Given the description of an element on the screen output the (x, y) to click on. 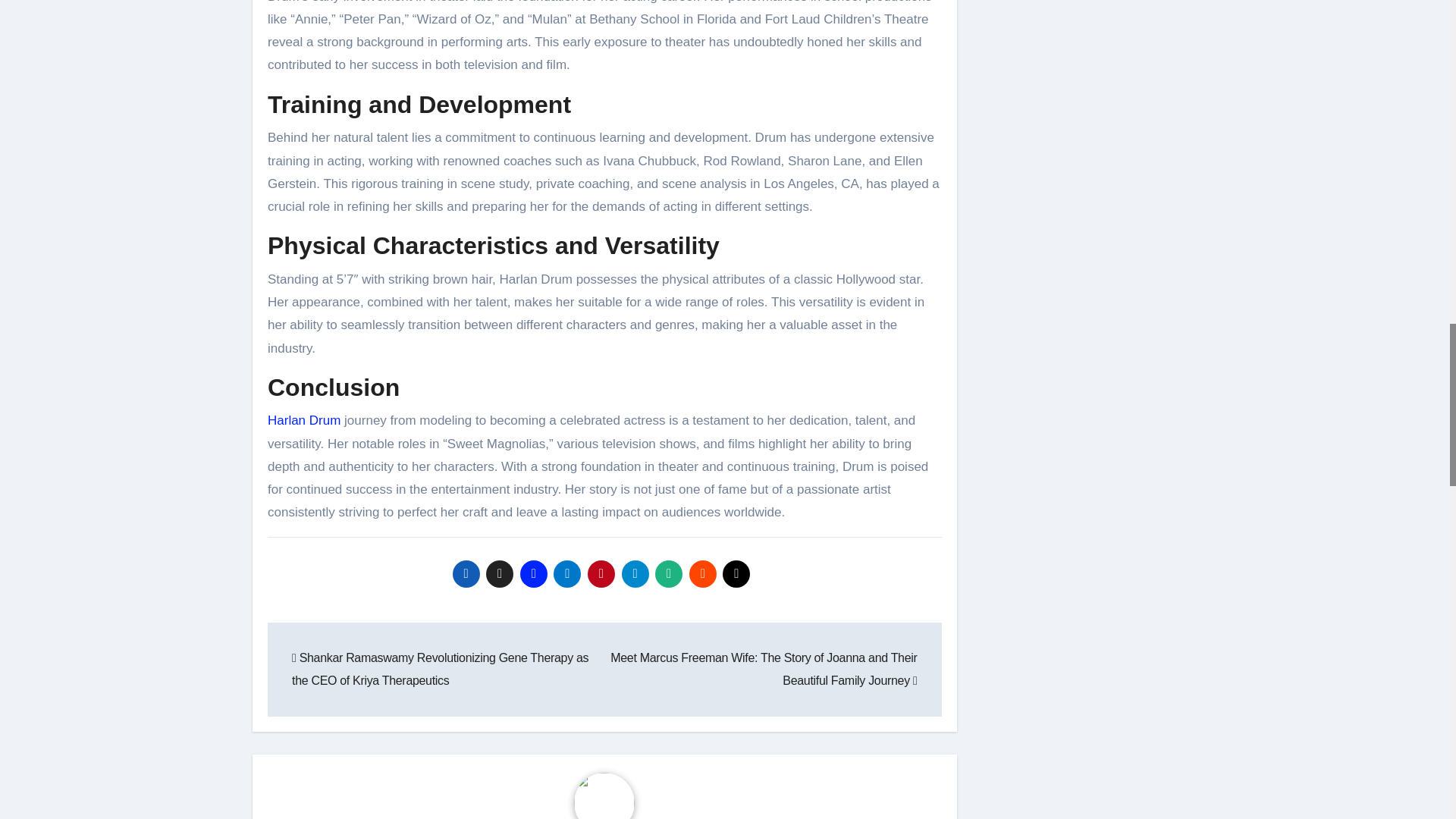
Harlan Drum (303, 420)
